Given the description of an element on the screen output the (x, y) to click on. 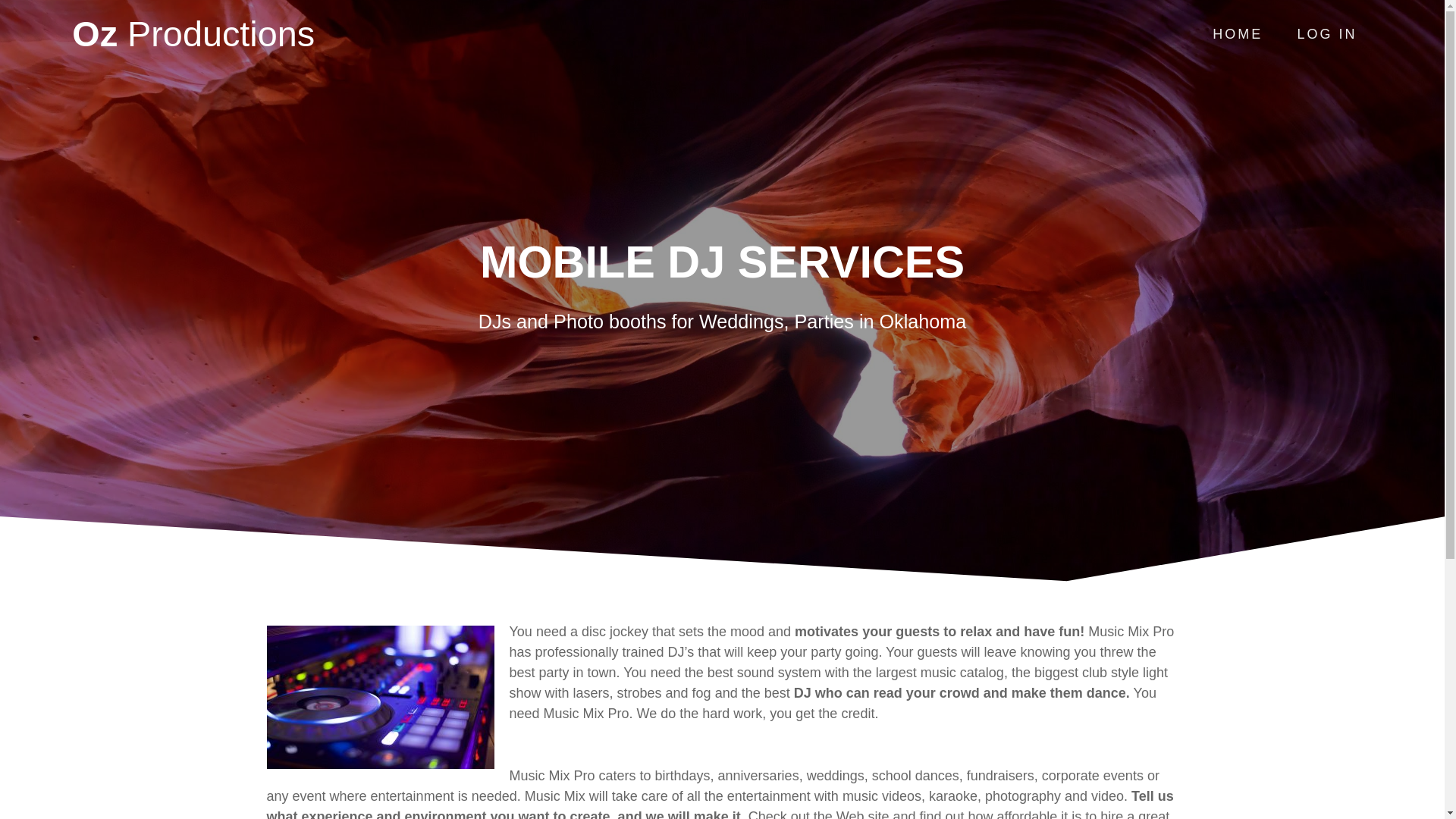
Oz Productions (192, 34)
